Given the description of an element on the screen output the (x, y) to click on. 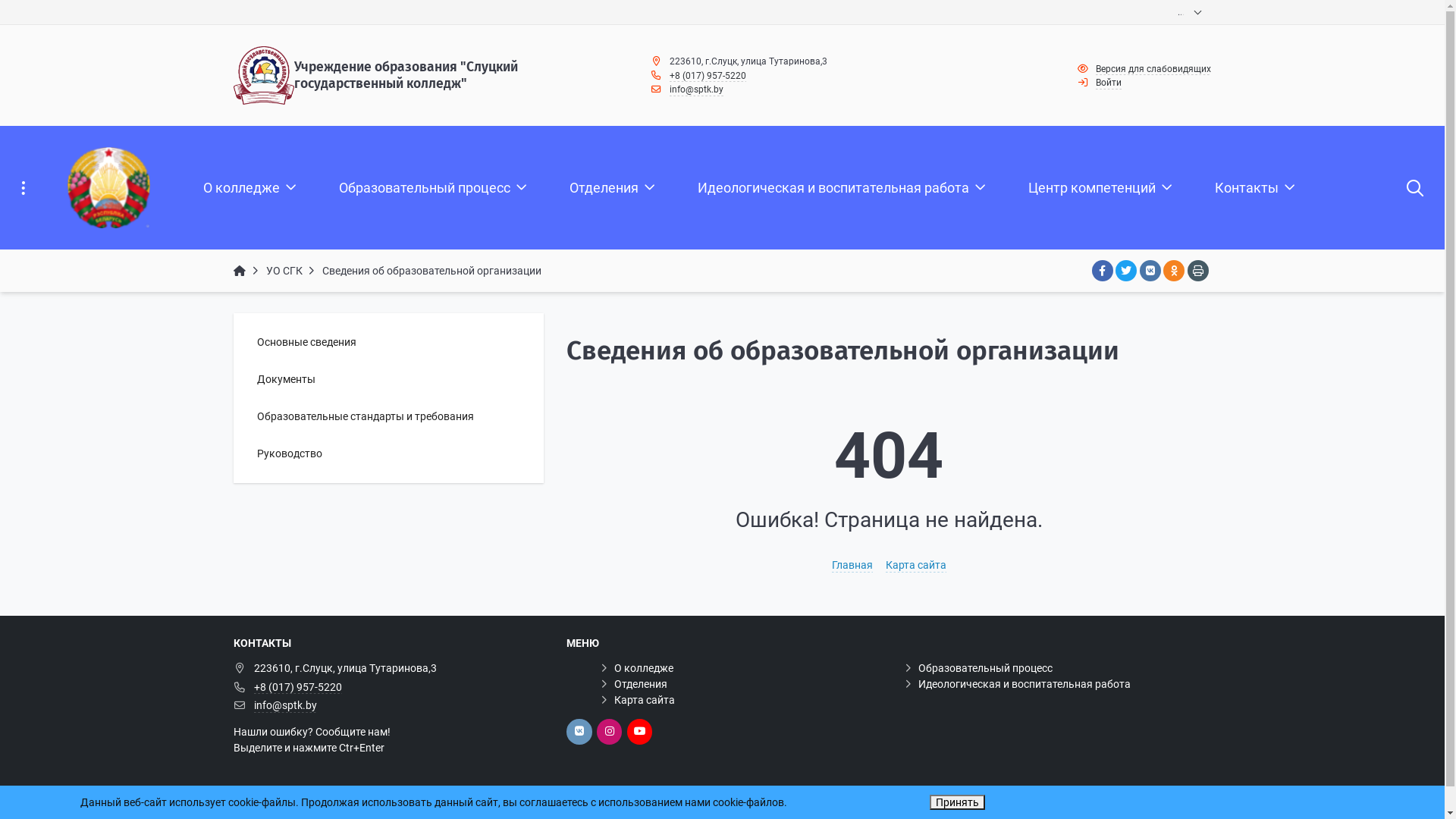
+8 (017) 957-5220 Element type: text (298, 687)
+8 (017) 957-5220 Element type: text (707, 76)
info@sptk.by Element type: text (696, 90)
info@sptk.by Element type: text (285, 705)
